Given the description of an element on the screen output the (x, y) to click on. 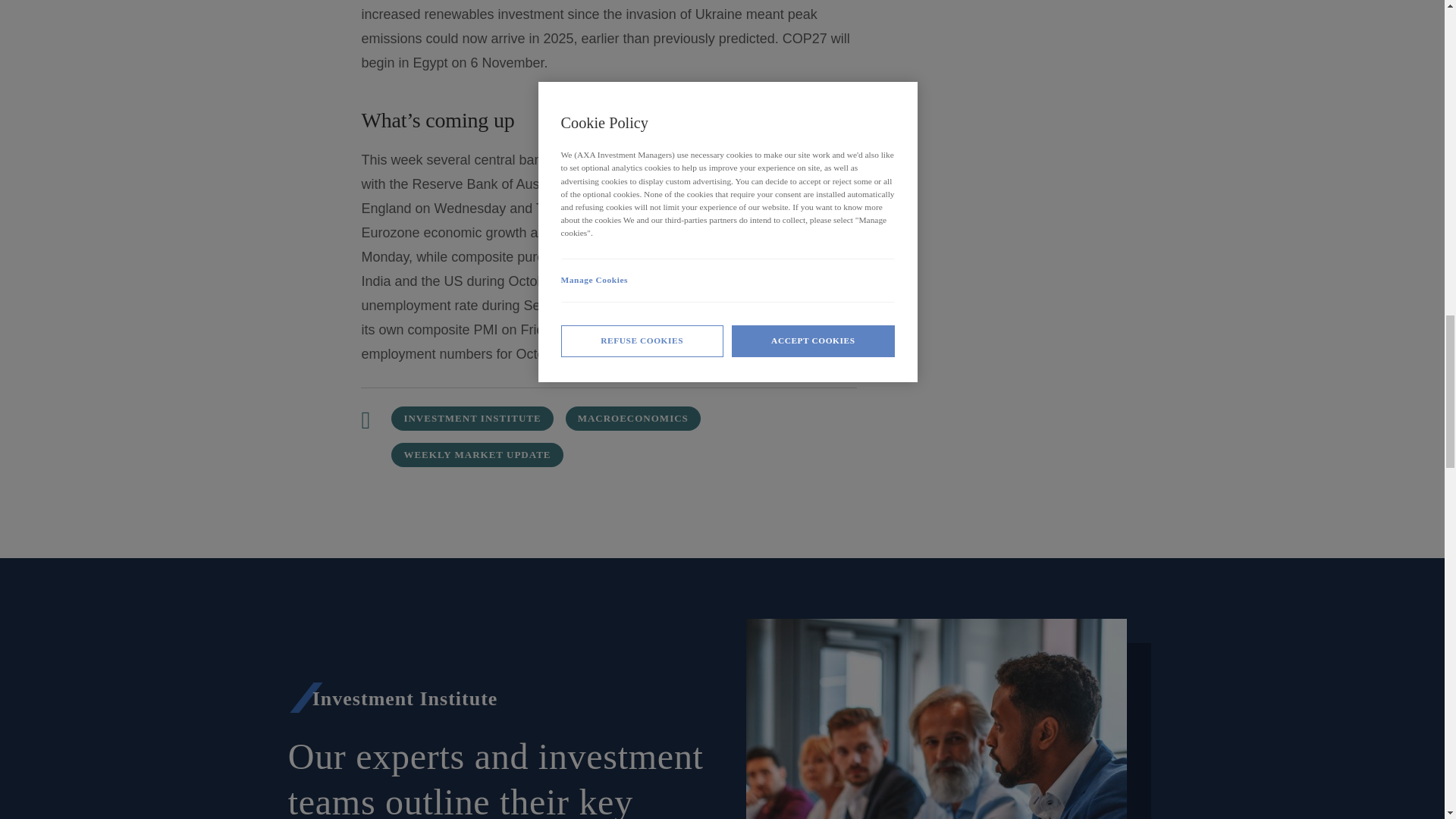
Explore Investment Institute insights (472, 418)
Explore Macroeconomics insights (633, 418)
Explore Weekly Market Update insights (476, 454)
